Given the description of an element on the screen output the (x, y) to click on. 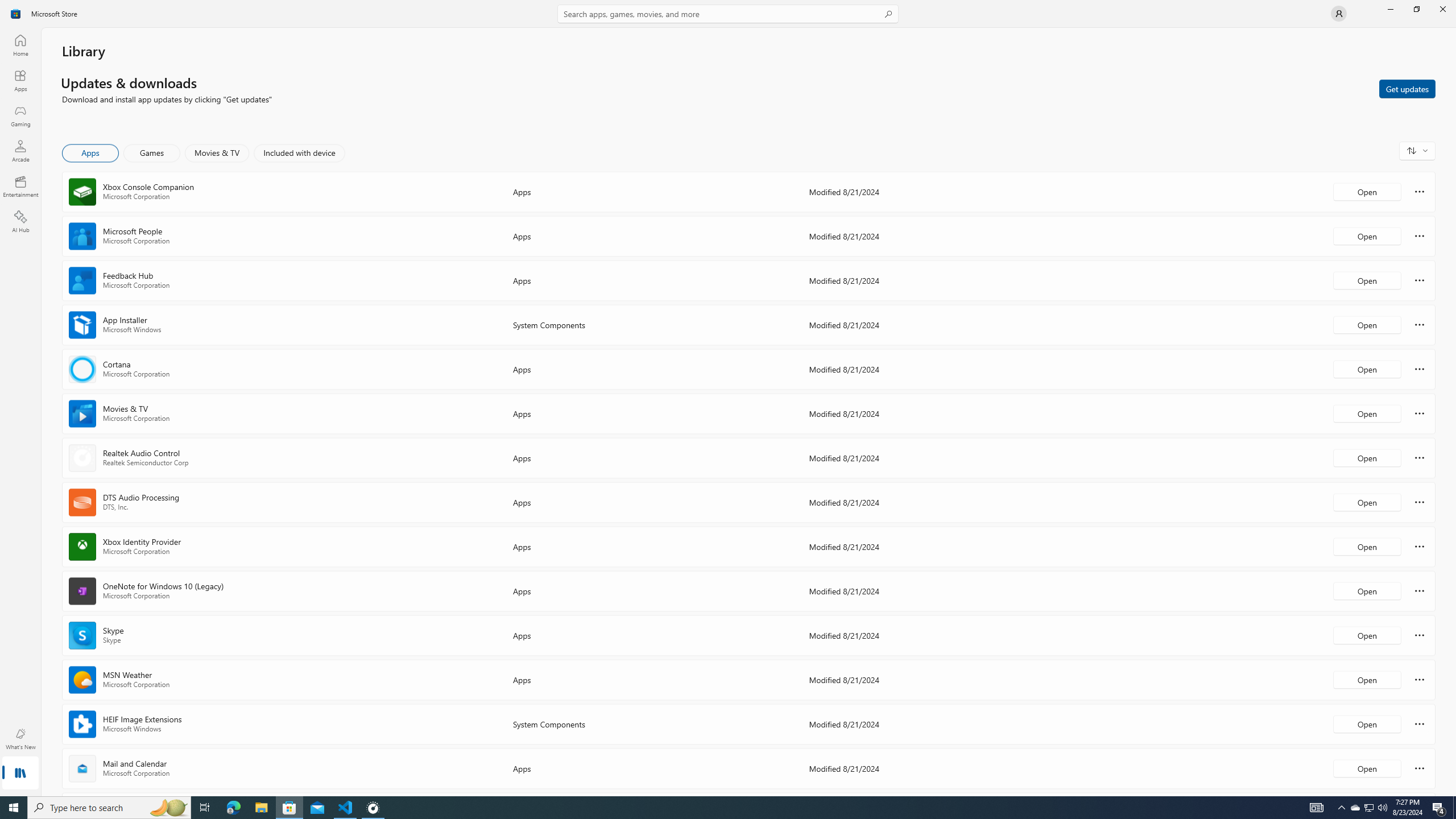
AutomationID: NavigationControl (728, 398)
More options (1419, 768)
